Given the description of an element on the screen output the (x, y) to click on. 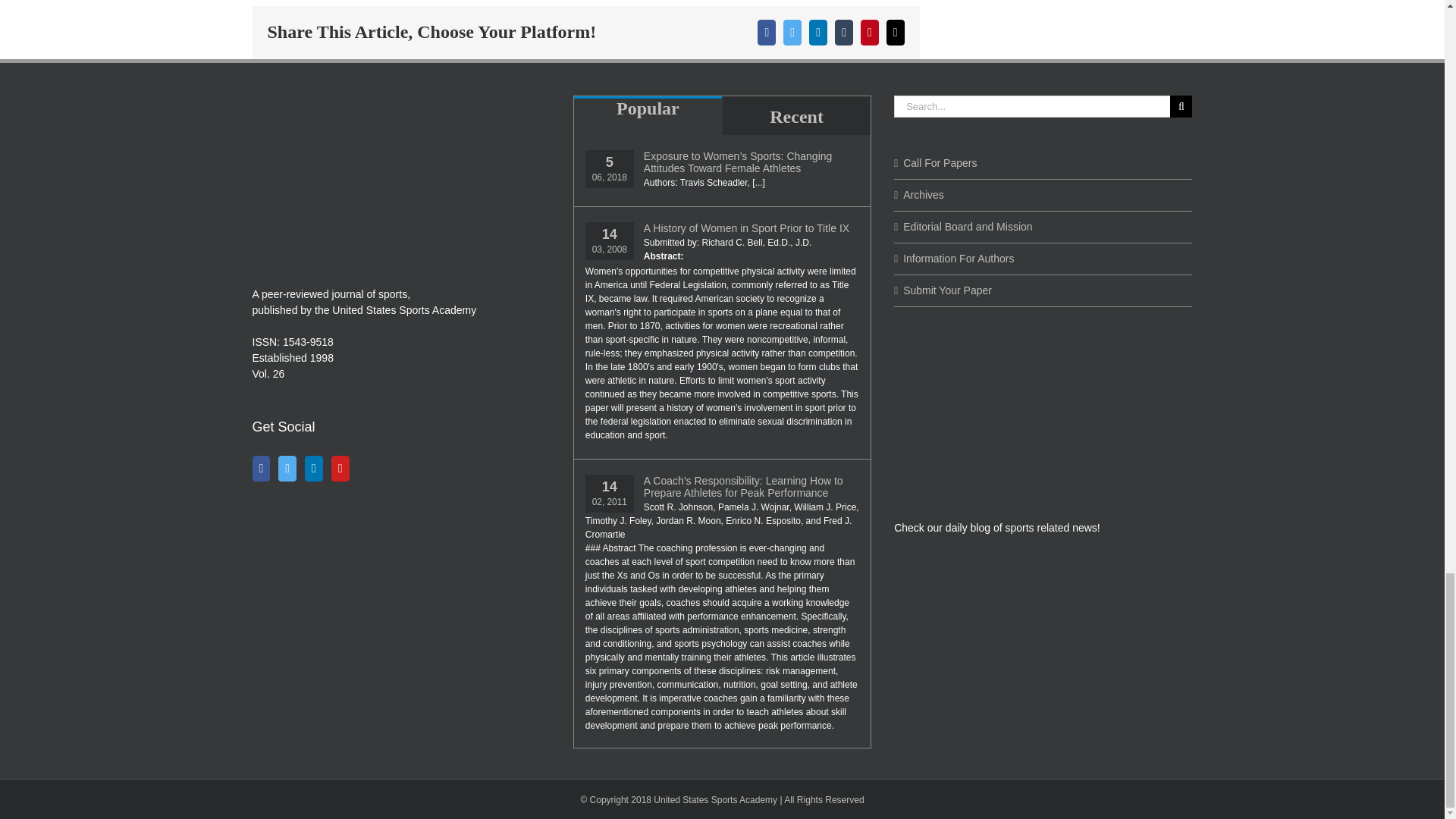
Twitter (792, 32)
LinkedIn (818, 32)
Email (895, 32)
A History of Women in Sport Prior to Title IX (751, 227)
Twitter (287, 468)
LinkedIn (313, 468)
Pinterest (869, 32)
Pinterest (869, 32)
Twitter (792, 32)
Email (895, 32)
Facebook (766, 32)
Tumblr (843, 32)
Recent (796, 115)
Popular (647, 111)
Tumblr (843, 32)
